Given the description of an element on the screen output the (x, y) to click on. 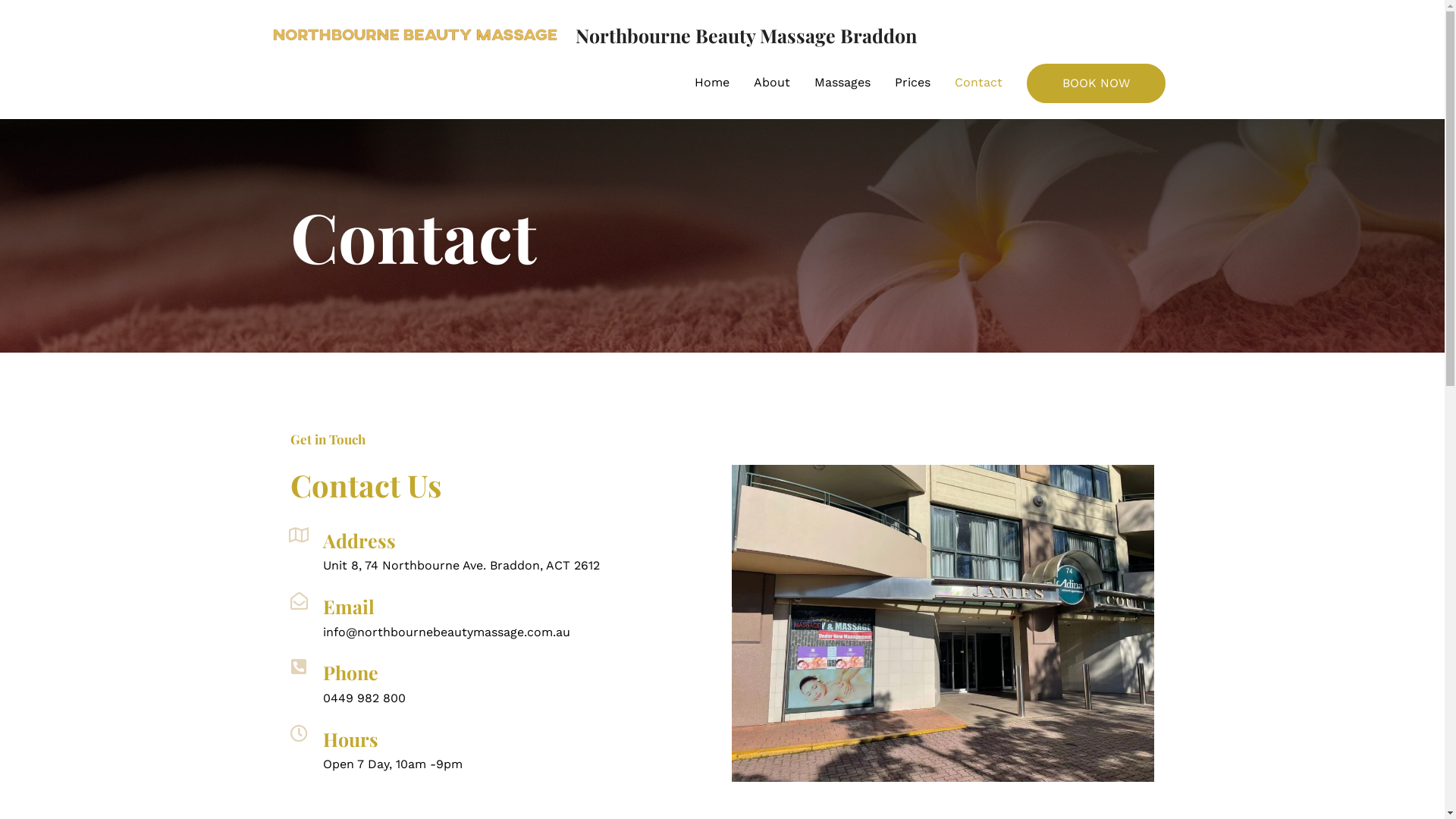
Prices Element type: text (912, 82)
Northbourne Beauty Massage Braddon Element type: text (745, 34)
About Element type: text (771, 82)
Contact Element type: text (977, 82)
Home Element type: text (711, 82)
Massages Element type: text (842, 82)
BOOK NOW Element type: text (1095, 83)
